Given the description of an element on the screen output the (x, y) to click on. 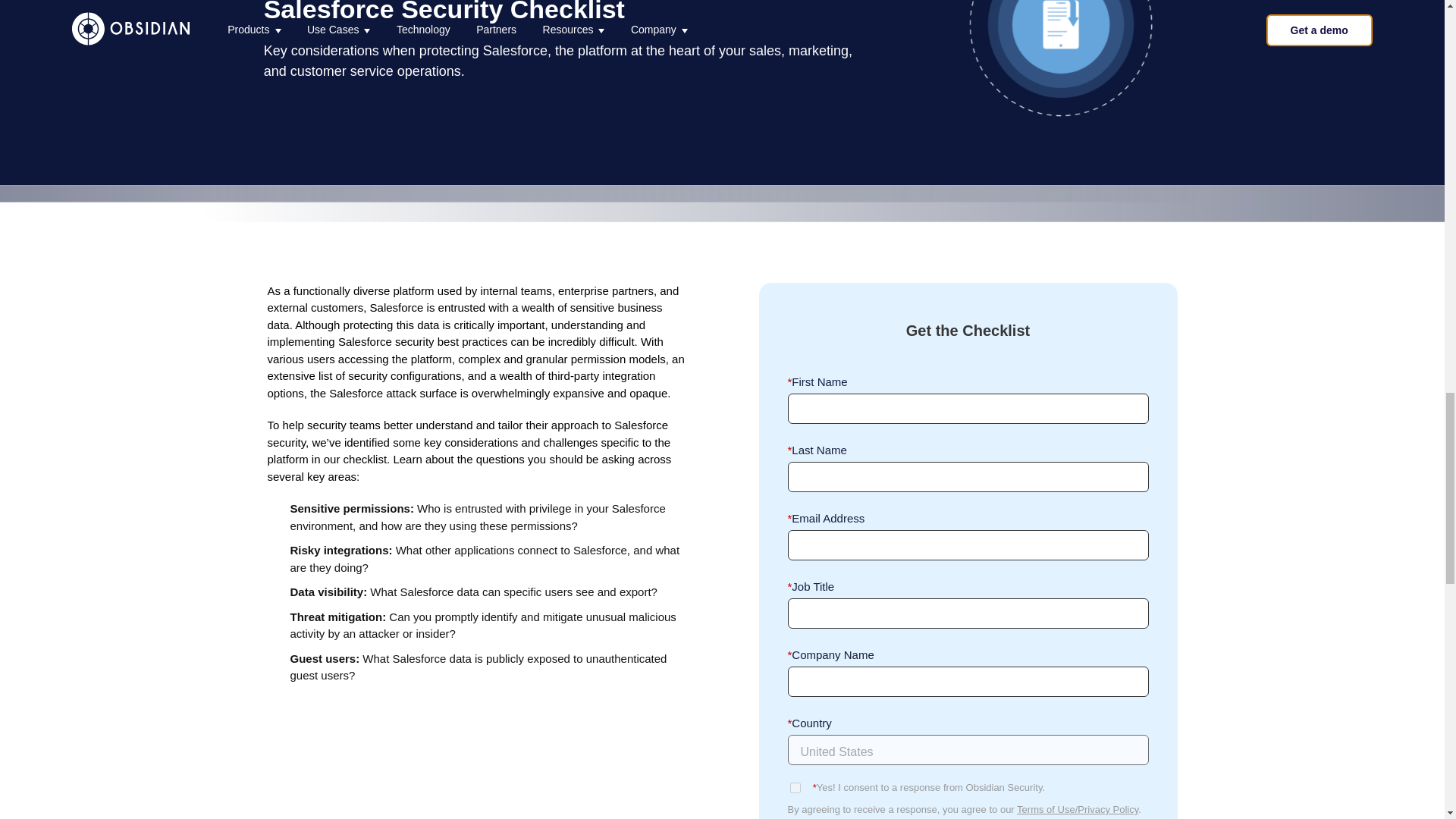
yes (795, 787)
